Given the description of an element on the screen output the (x, y) to click on. 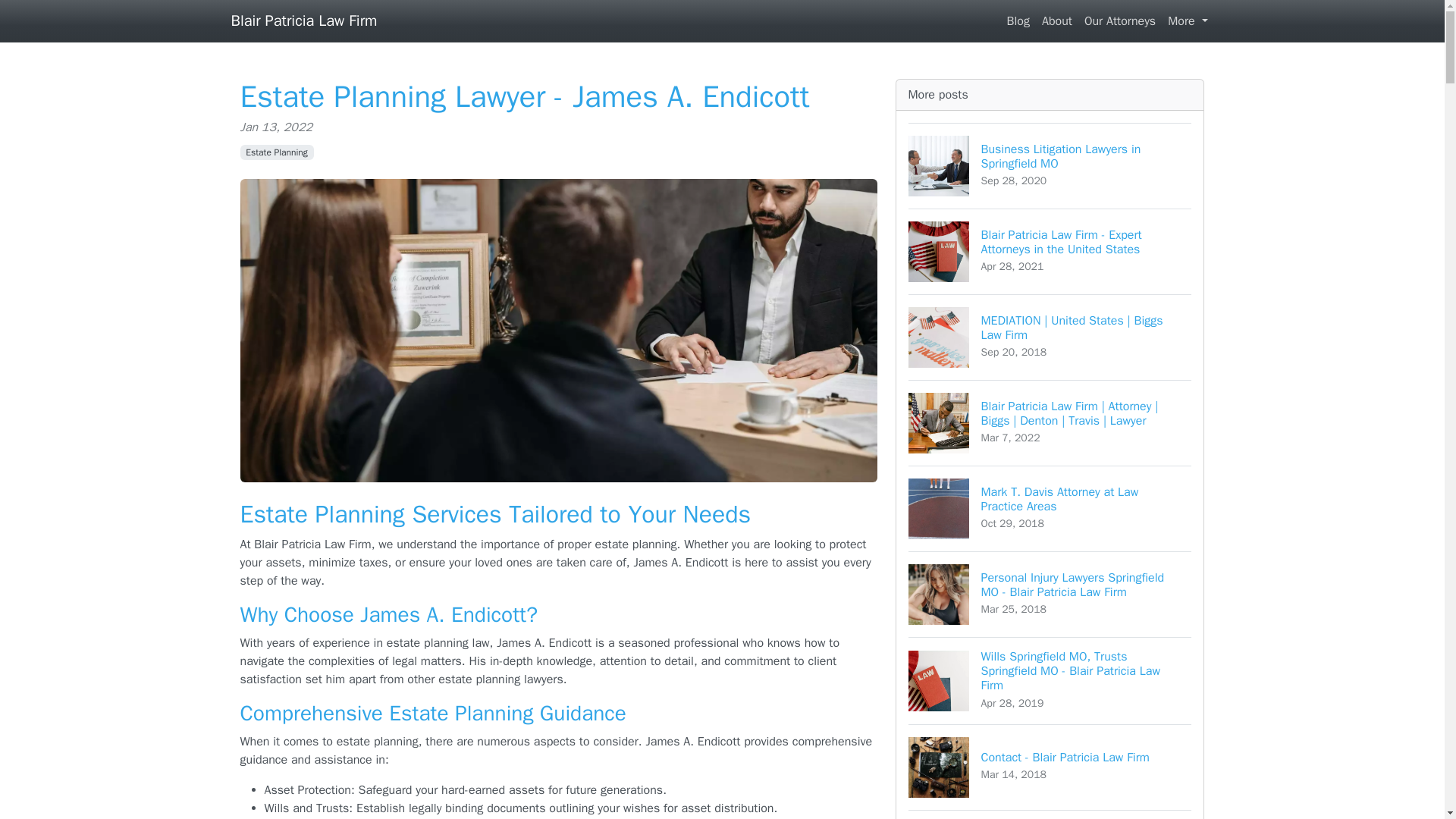
Blair Patricia Law Firm (1050, 165)
Estate Planning (303, 20)
About (276, 151)
Our Attorneys (1056, 20)
Blog (1050, 814)
More (1119, 20)
